Given the description of an element on the screen output the (x, y) to click on. 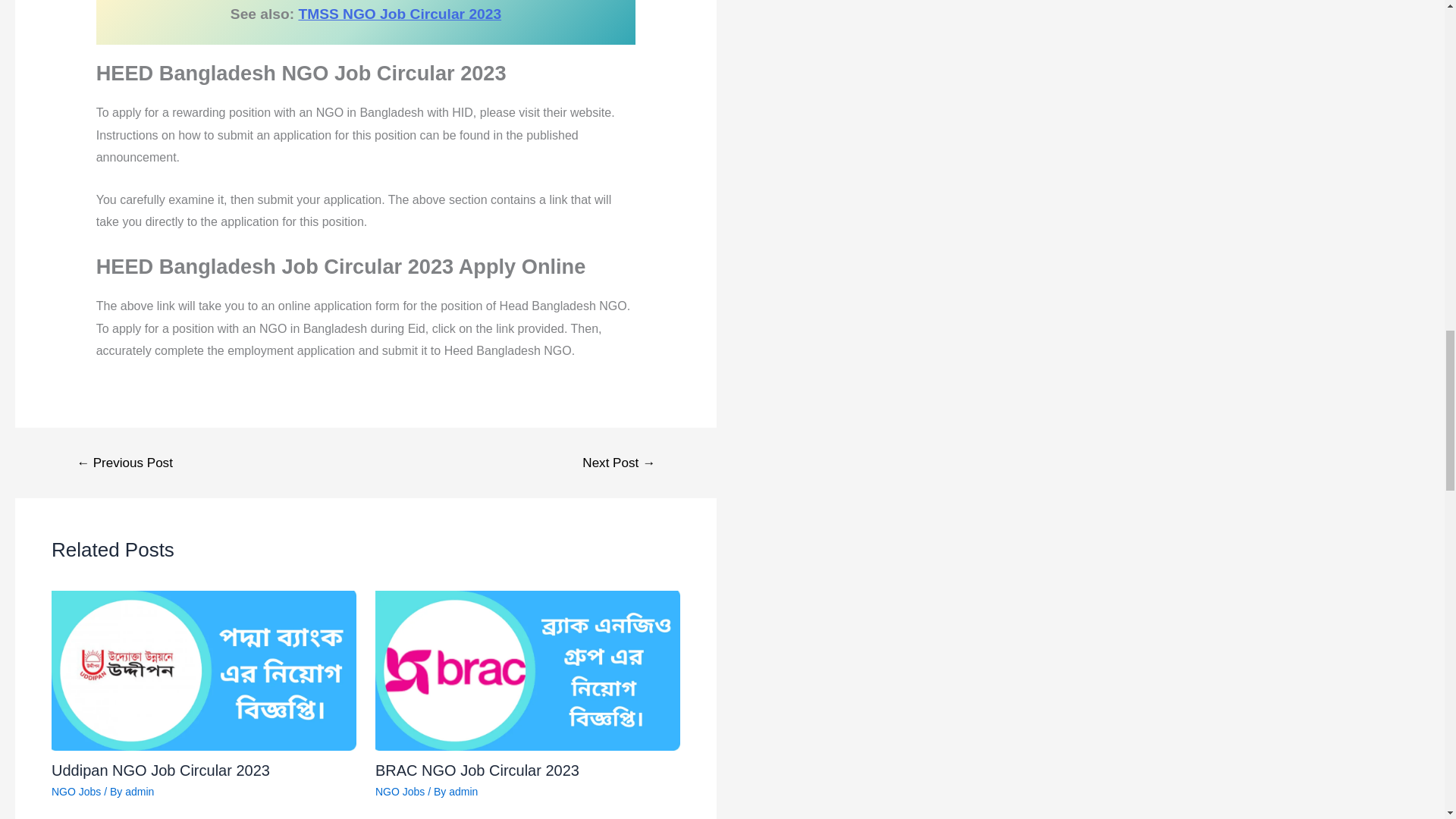
NGO Jobs (400, 791)
View all posts by admin (139, 791)
admin (462, 791)
NGO Jobs (75, 791)
TMSS NGO Job Circular 2023 (399, 13)
BRAC NGO Job Circular 2023 (477, 770)
View all posts by admin (462, 791)
admin (139, 791)
Uddipan NGO Job Circular 2023 (159, 770)
